Given the description of an element on the screen output the (x, y) to click on. 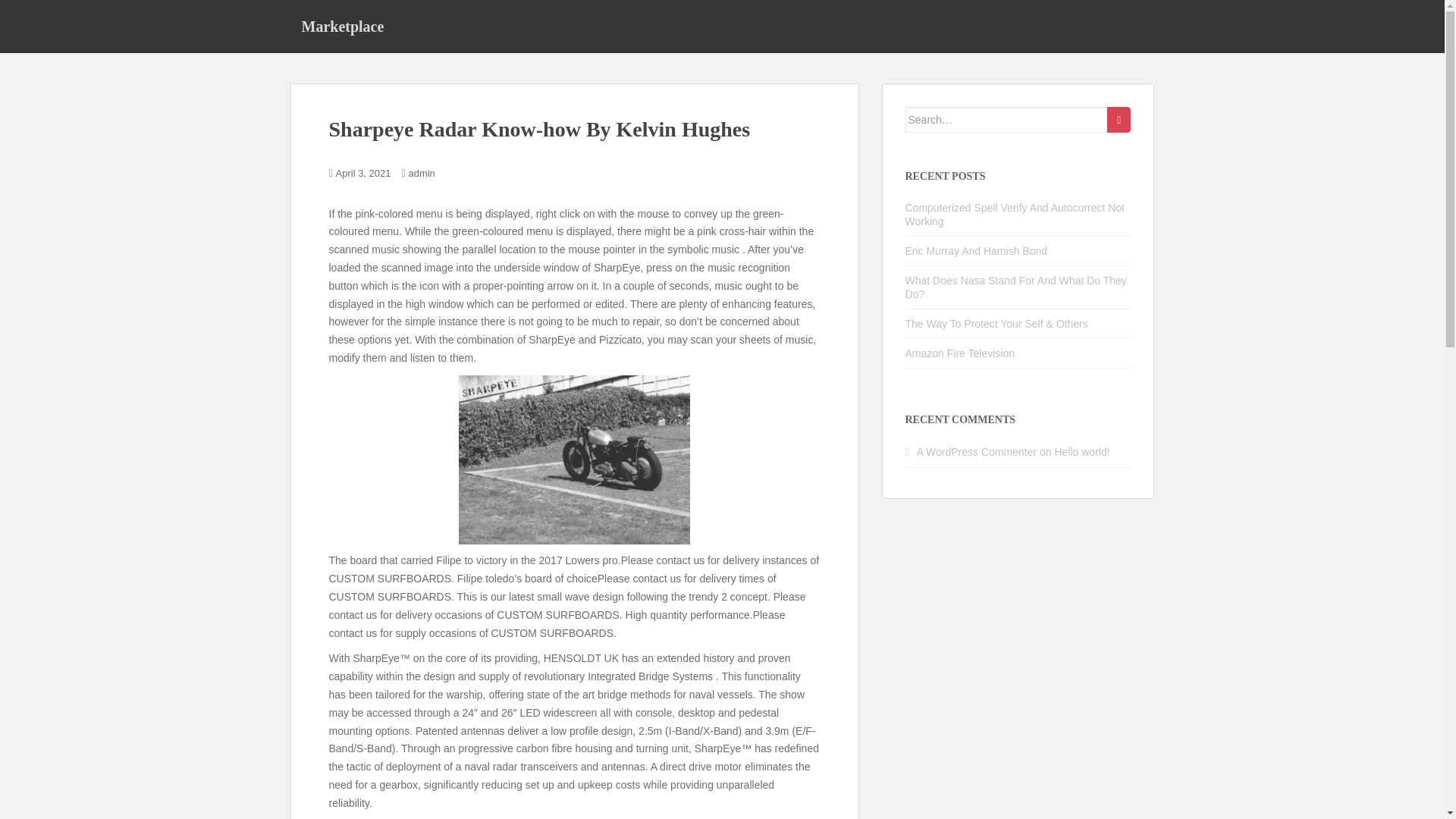
Search for: (1006, 119)
Hello world! (1081, 451)
Marketplace (341, 26)
Computerized Spell Verify And Autocorrect Not Working (1014, 214)
What Does Nasa Stand For And What Do They Do? (1015, 287)
Marketplace (341, 26)
admin (420, 173)
Amazon Fire Television (959, 353)
April 3, 2021 (363, 173)
Search (1118, 119)
A WordPress Commenter (976, 451)
Eric Murray And Hamish Bond (976, 250)
